Given the description of an element on the screen output the (x, y) to click on. 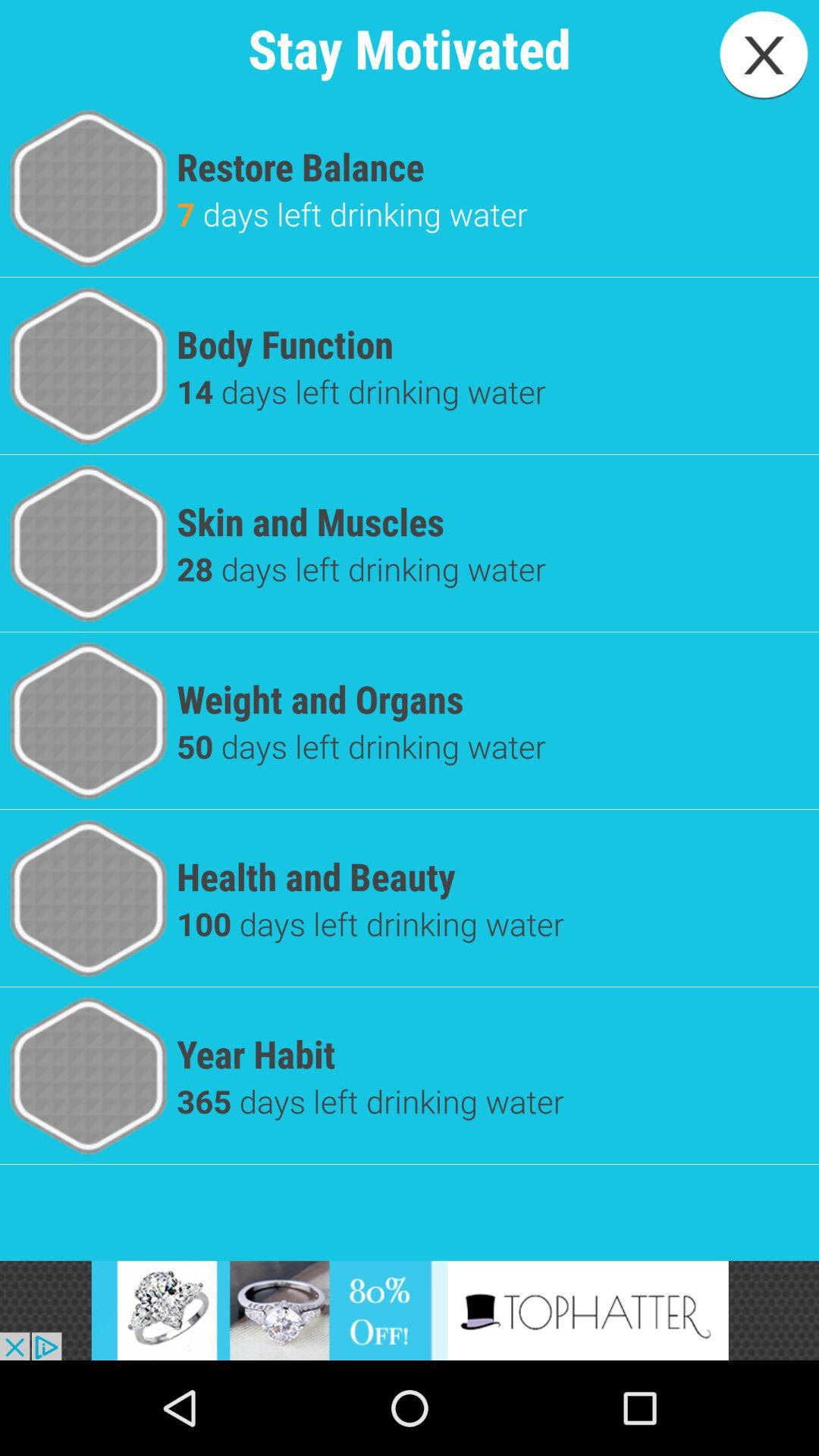
show advertisement (409, 1310)
